Given the description of an element on the screen output the (x, y) to click on. 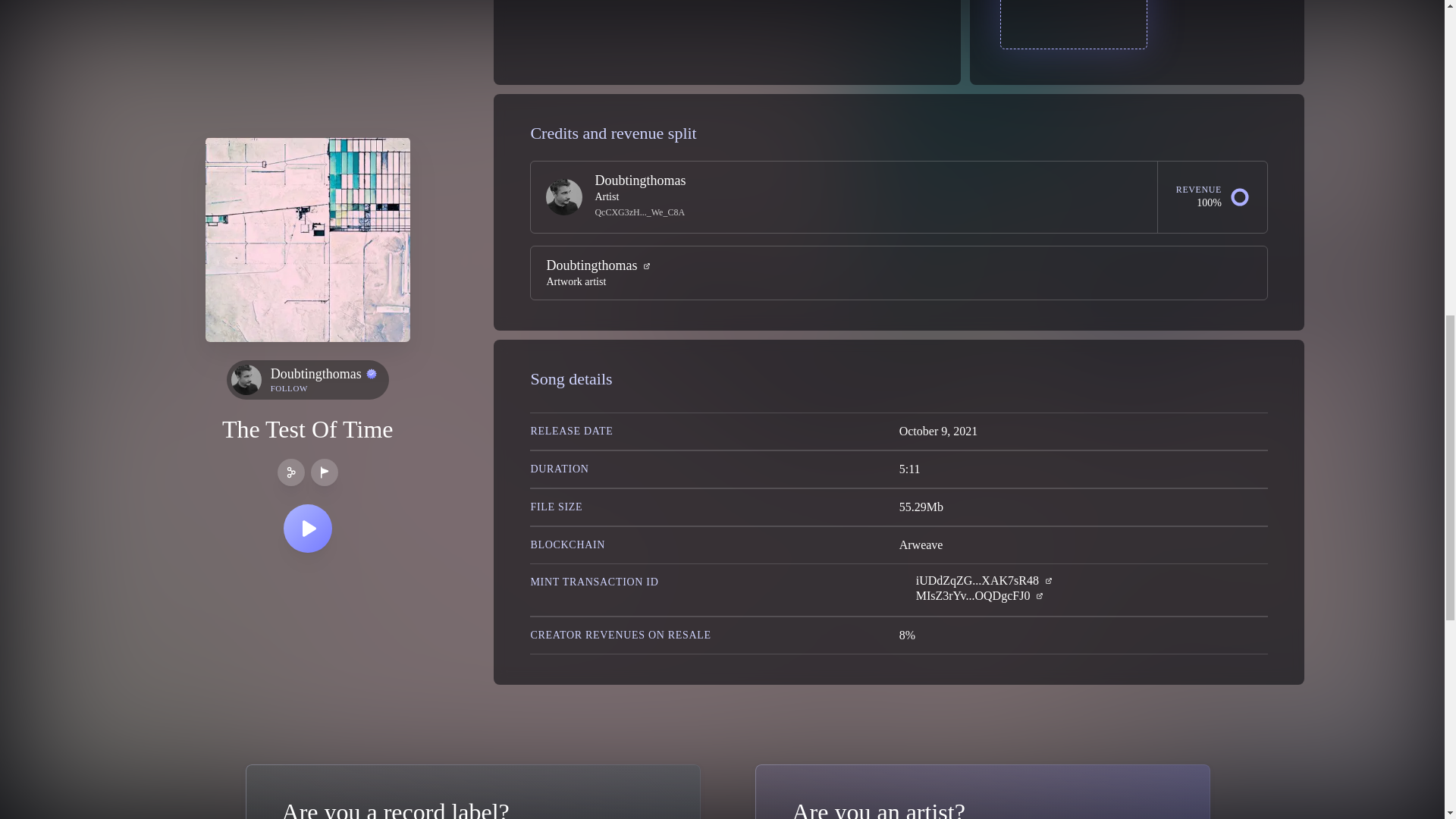
iUDdZqZG...XAK7sR48 (875, 187)
MIsZ3rYv...OQDgcFJ0 (977, 580)
